Given the description of an element on the screen output the (x, y) to click on. 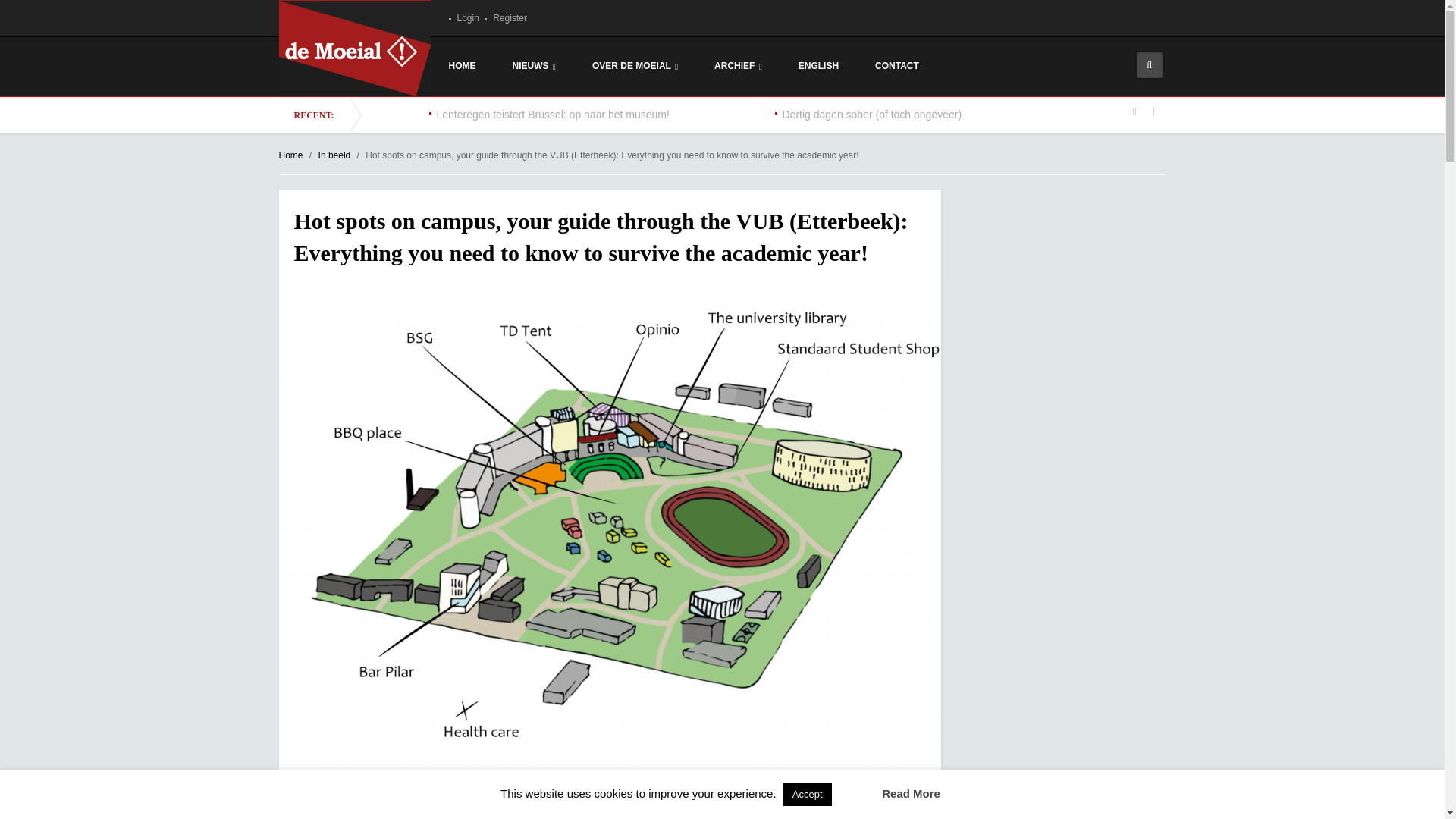
In beeld (334, 154)
NIEUWS (534, 65)
Berichten van Rieneke Lammens (525, 799)
Lenteregen teistert Brussel: op naar het museum! (552, 114)
ENGLISH (818, 65)
Home (290, 154)
HOME (462, 65)
Register (317, 800)
Berichten van Jarno Van Mulders (510, 18)
Login (435, 799)
Register (468, 18)
OVER DE MOEIAL (510, 18)
CONTACT (634, 65)
ARCHIEF (897, 65)
